Given the description of an element on the screen output the (x, y) to click on. 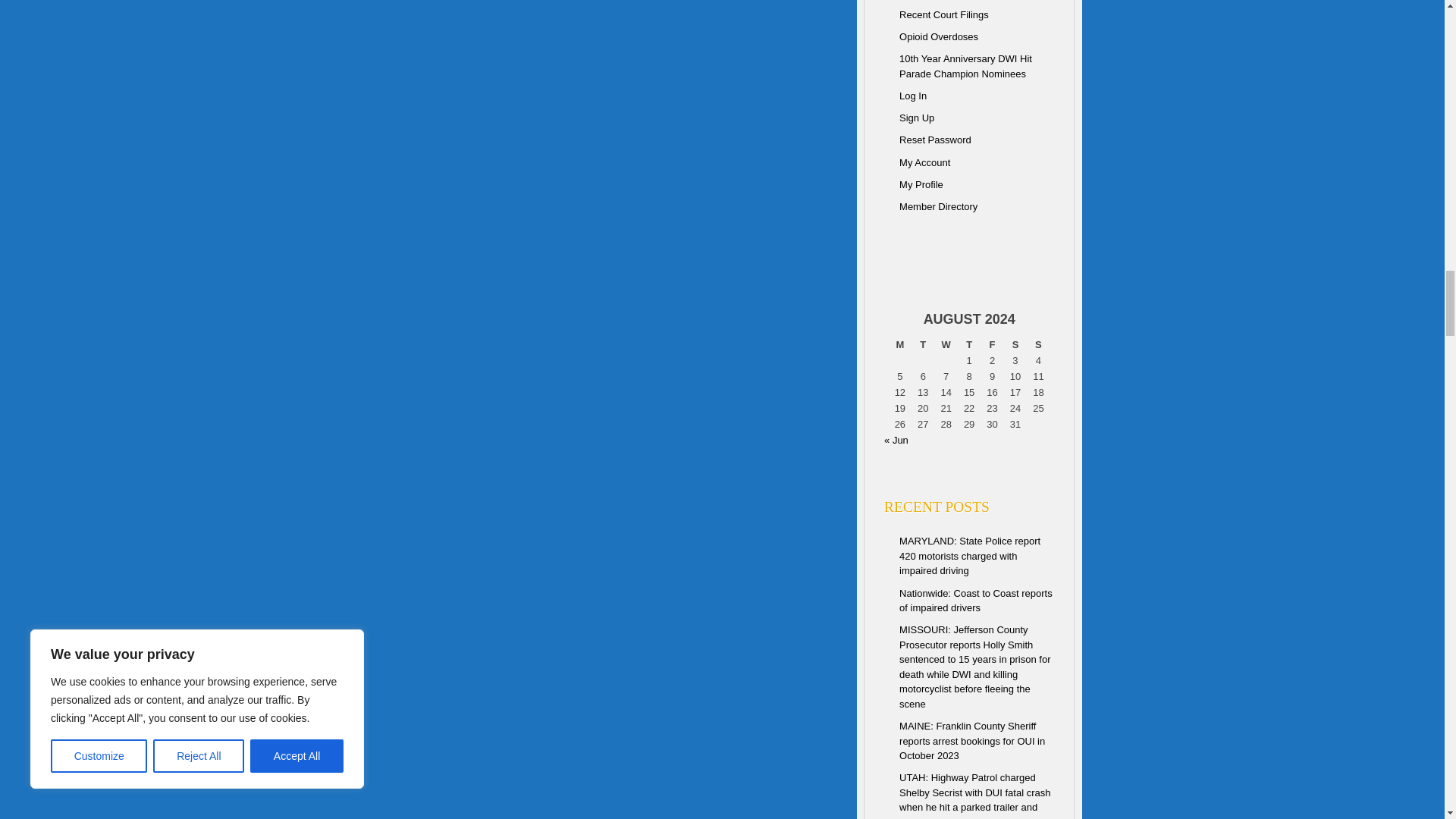
Thursday (968, 344)
Wednesday (945, 344)
Tuesday (922, 344)
Saturday (1015, 344)
Friday (991, 344)
Monday (899, 344)
Sunday (1037, 344)
